Given the description of an element on the screen output the (x, y) to click on. 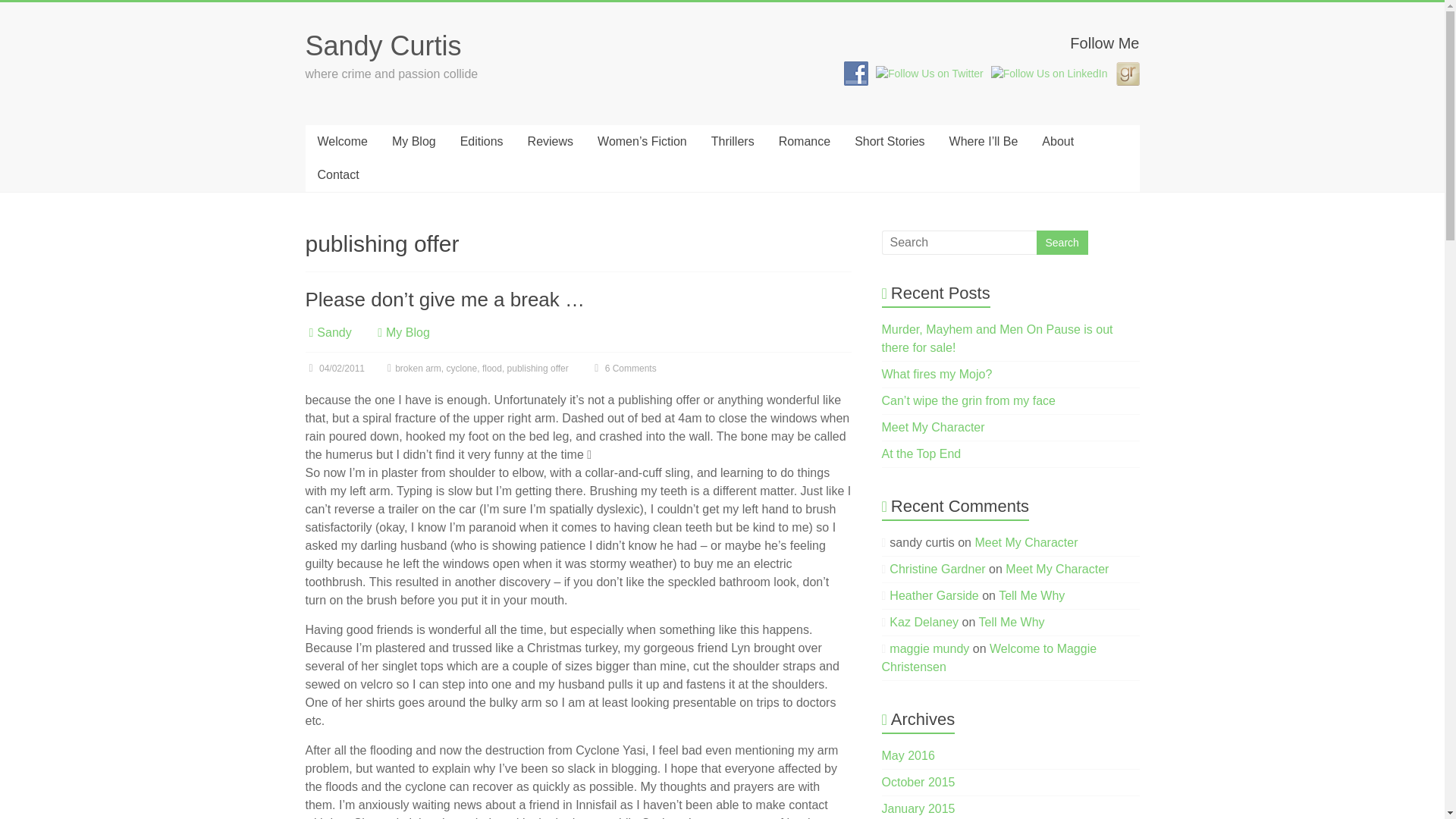
Heather Garside (933, 594)
About (1057, 141)
maggie mundy (929, 648)
Follow Us on Facebook (855, 73)
publishing offer (537, 368)
Thrillers (732, 141)
What fires my Mojo? (937, 373)
My Blog (407, 332)
Reviews (550, 141)
Kaz Delaney (923, 621)
Contact (337, 174)
Christine Gardner (937, 568)
Tell Me Why (1031, 594)
broken arm (417, 368)
Meet My Character (933, 427)
